Given the description of an element on the screen output the (x, y) to click on. 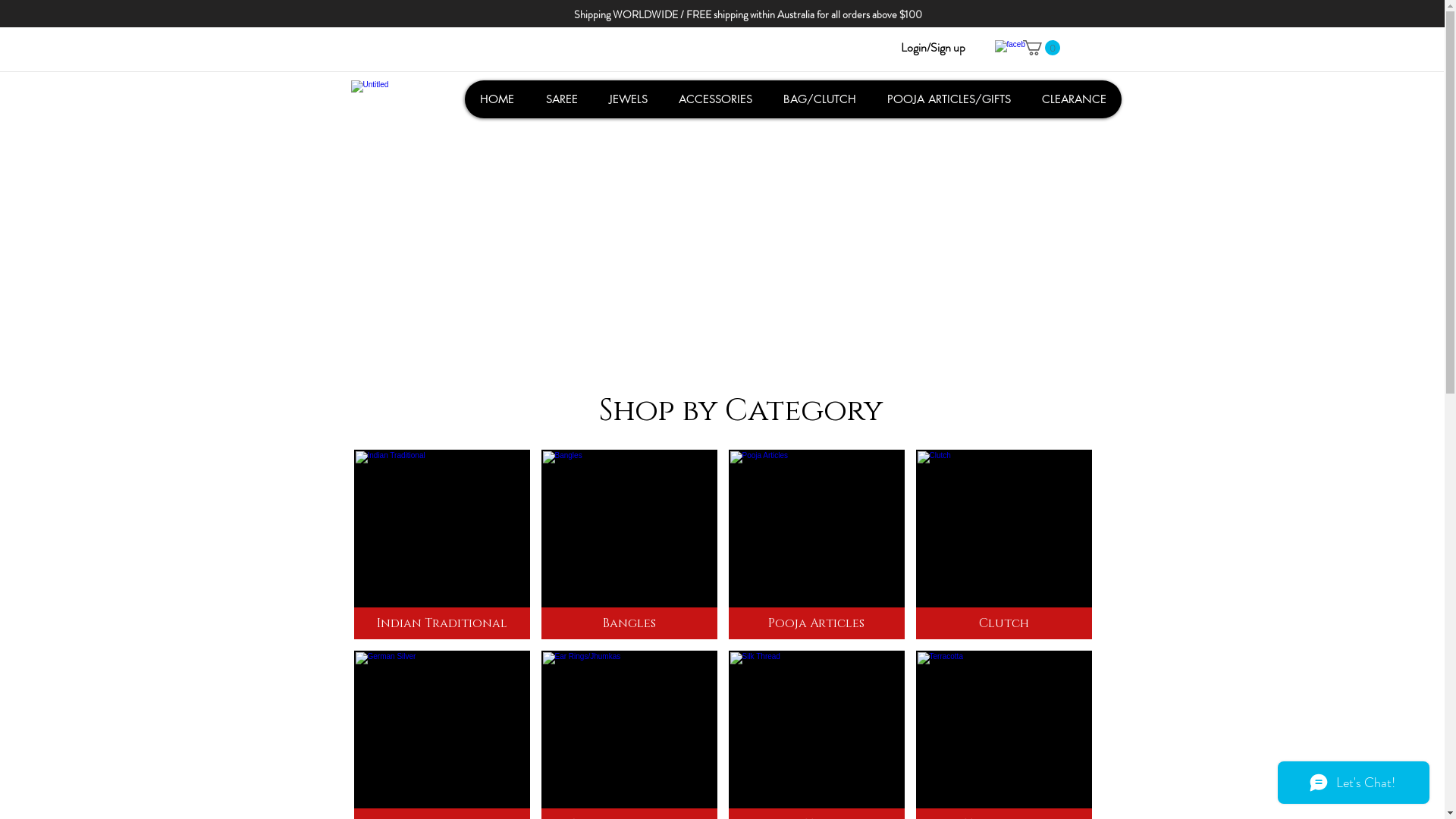
JEWELS Element type: text (627, 99)
Bangles Element type: text (629, 544)
Pooja Articles Element type: text (815, 544)
SAREE Element type: text (560, 99)
ACCESSORIES Element type: text (714, 99)
Site Search Element type: hover (432, 47)
HOME Element type: text (496, 99)
CLEARANCE Element type: text (1072, 99)
Login/Sign up Element type: text (932, 47)
BAG/CLUTCH Element type: text (819, 99)
Indian Traditional Element type: text (441, 544)
0 Element type: text (1040, 47)
POOJA ARTICLES/GIFTS Element type: text (947, 99)
Clutch Element type: text (1004, 544)
